Given the description of an element on the screen output the (x, y) to click on. 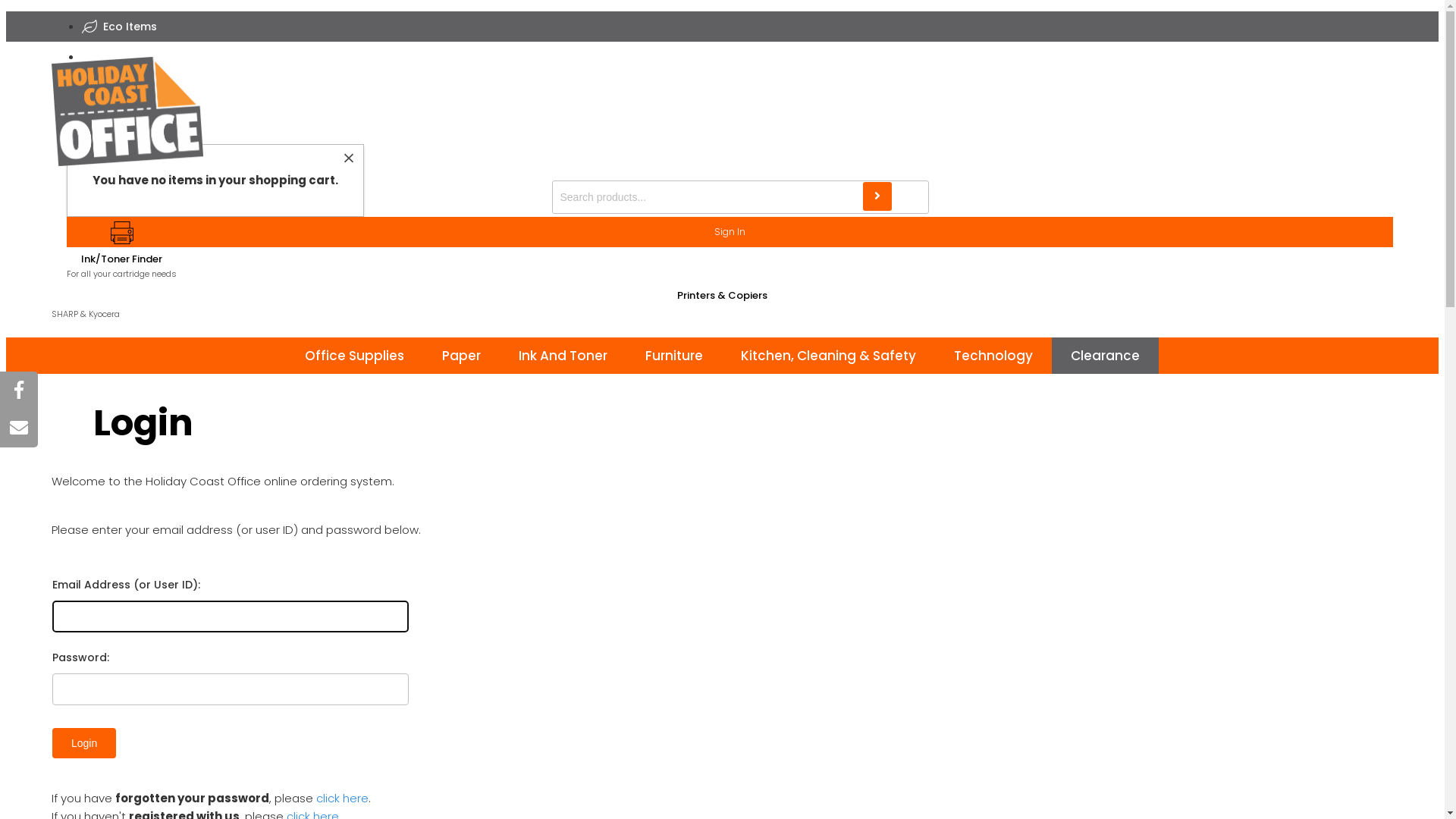
Login Element type: text (84, 743)
click here Element type: text (342, 798)
Printers & Copiers
SHARP & Kyocera Element type: text (722, 318)
Australia Made Element type: text (141, 86)
Technology Element type: text (993, 355)
Kitchen, Cleaning & Safety Element type: text (828, 355)
Paper Element type: text (461, 355)
Registration Element type: text (722, 128)
Eco Items Element type: text (126, 26)
Sign In Element type: text (729, 231)
Ink/Toner Finder
For all your cartridge needs Element type: text (121, 250)
Clearance Element type: text (1104, 355)
Office Supplies Element type: text (354, 355)
Ink And Toner Element type: text (562, 355)
Furniture Element type: text (673, 355)
Indigenous Element type: text (133, 56)
